Given the description of an element on the screen output the (x, y) to click on. 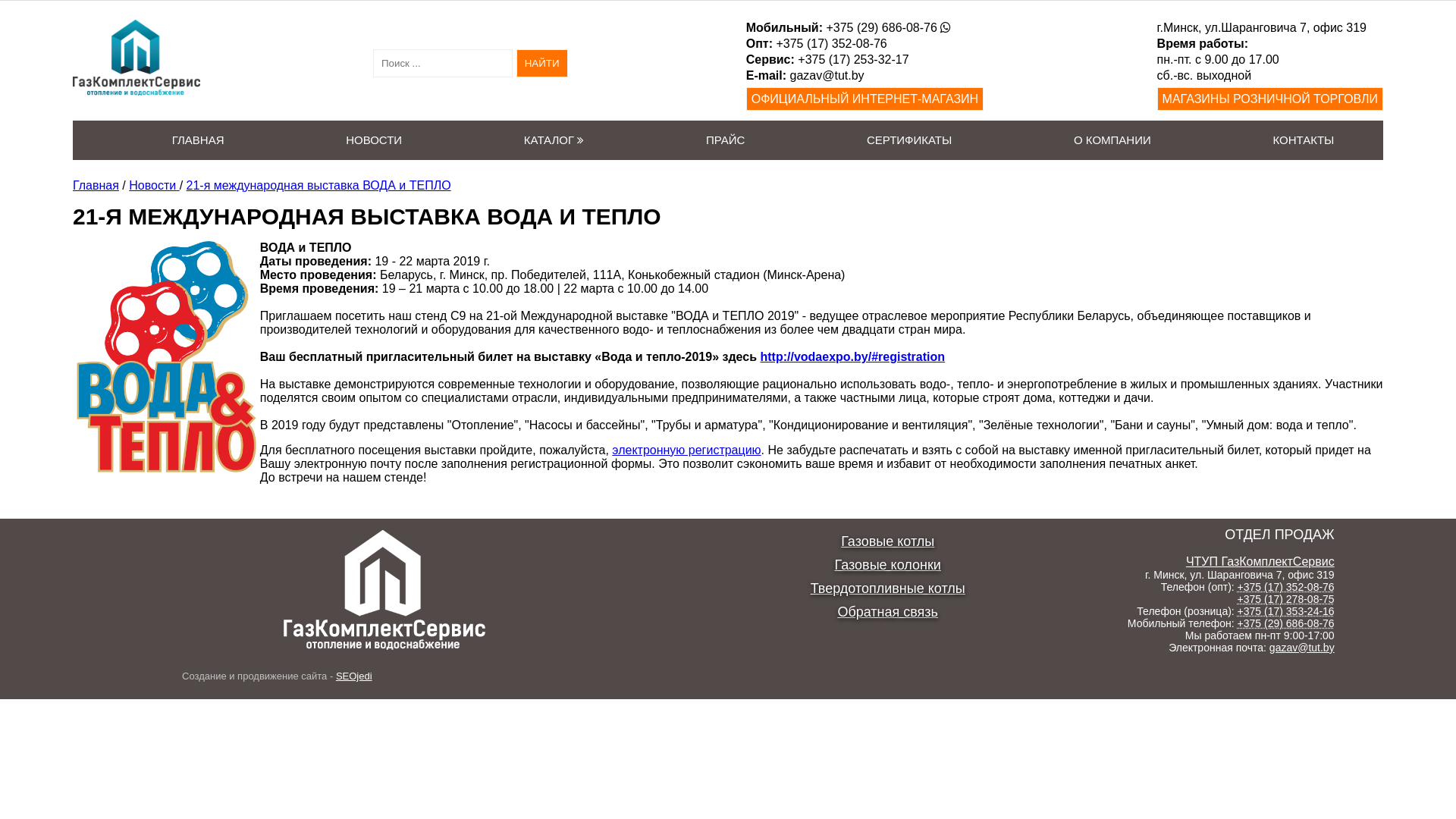
+375 (17) 352-08-76 Element type: text (830, 43)
gazav@tut.by Element type: text (1301, 647)
SEOjedi Element type: text (353, 675)
+375 (29) 686-08-76 Element type: text (880, 27)
gazav@tut.by Element type: text (827, 75)
+375 (17) 253-32-17 Element type: text (852, 59)
http://vodaexpo.by/#registration Element type: text (851, 356)
